Given the description of an element on the screen output the (x, y) to click on. 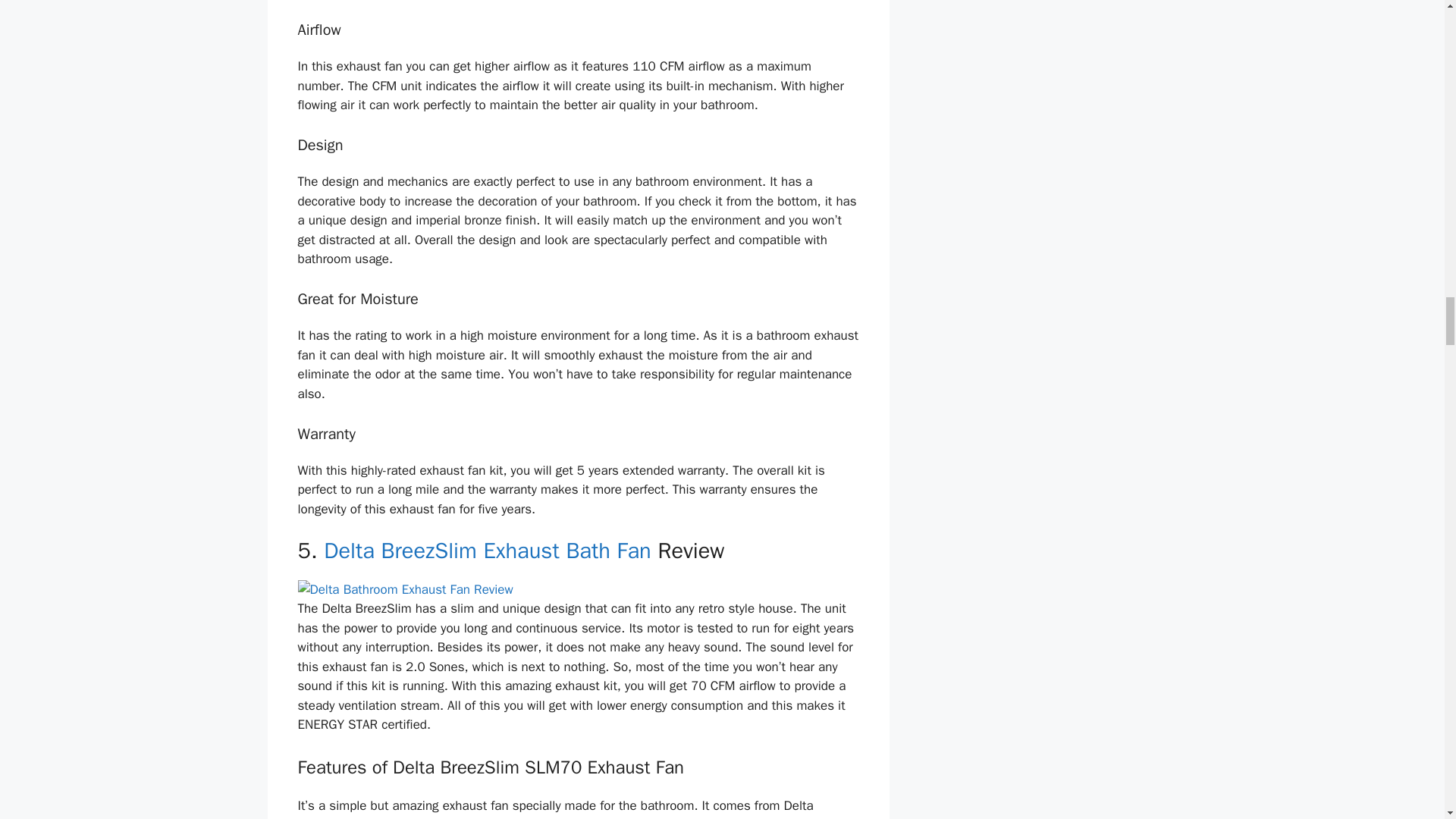
Delta BreezSlim Exhaust Bath Fan (486, 551)
